Given the description of an element on the screen output the (x, y) to click on. 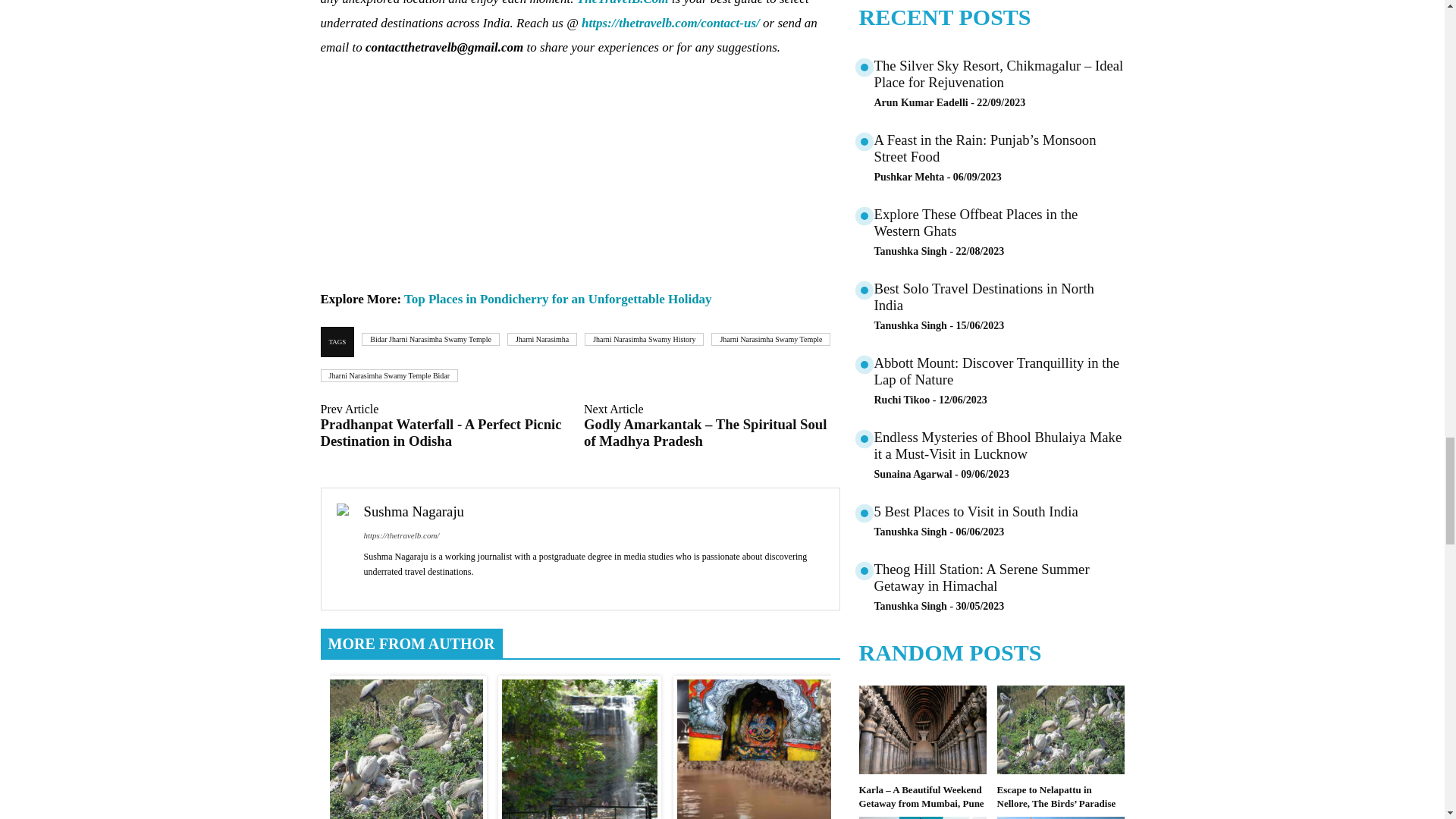
Jharni Narasimha Swamy Temple (770, 338)
Jharni Narasimha Swamy Temple Bidar (389, 375)
Top Places in Pondicherry for an Unforgettable Holiday (557, 298)
Jharni Narasimha Swamy History (644, 338)
Jharni Narasimha (541, 338)
Bidar Jharni Narasimha Swamy Temple (430, 338)
TheTravelB.Com (622, 2)
